Given the description of an element on the screen output the (x, y) to click on. 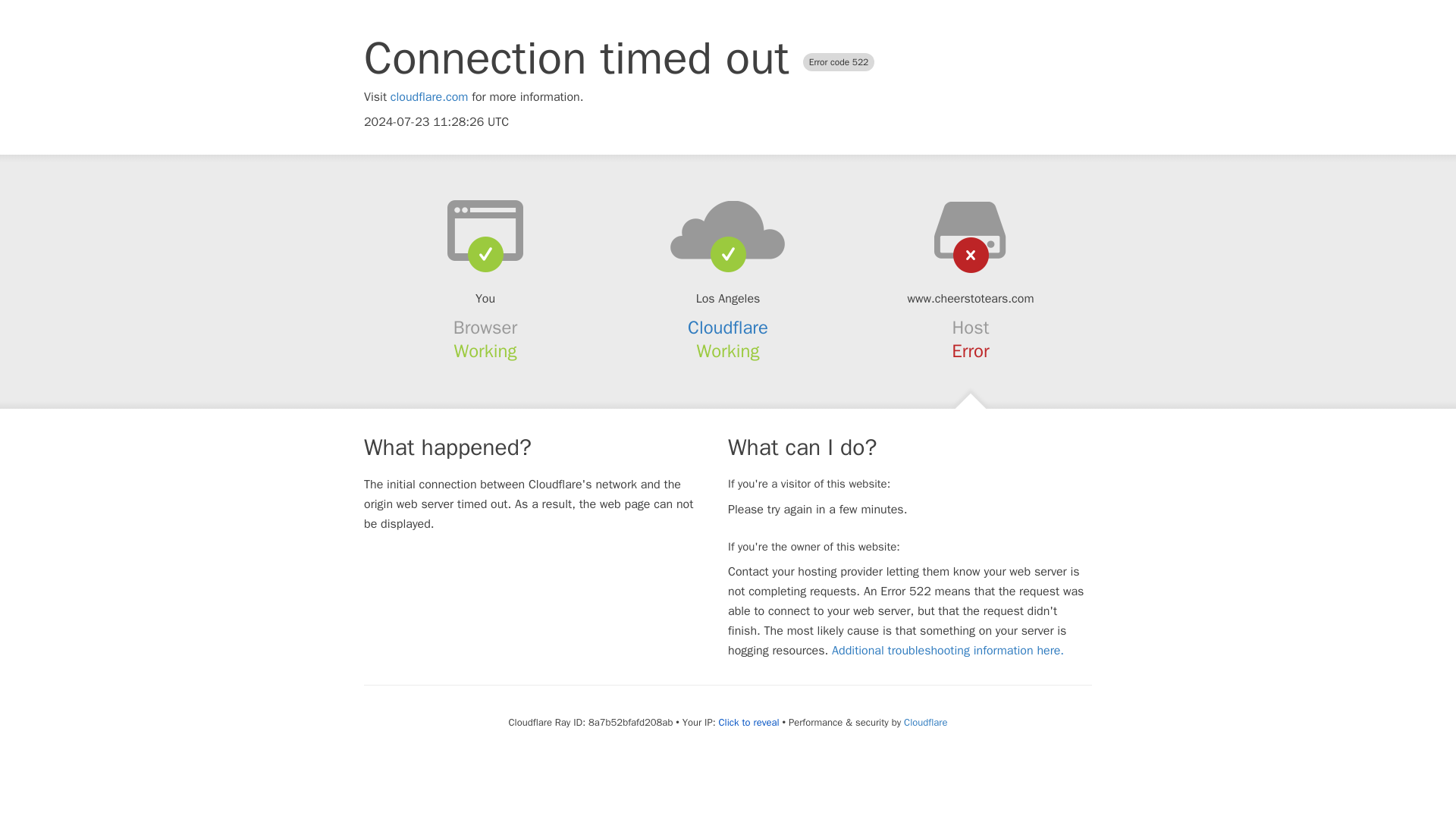
Additional troubleshooting information here. (947, 650)
Click to reveal (748, 722)
cloudflare.com (429, 96)
Cloudflare (727, 327)
Cloudflare (925, 721)
